Given the description of an element on the screen output the (x, y) to click on. 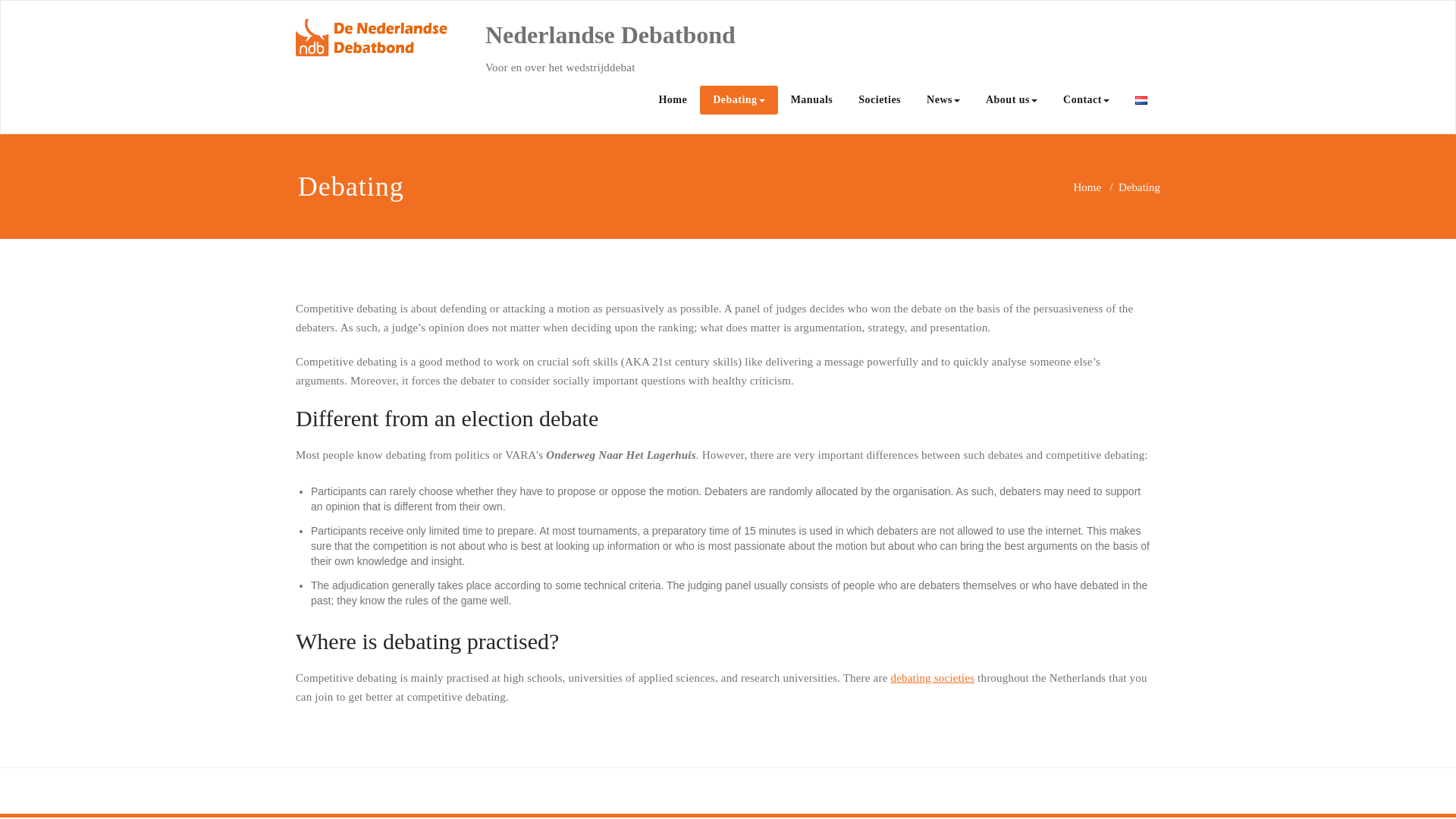
News (943, 99)
Nederlandse Debatbond (609, 34)
Contact (1085, 99)
Debating (738, 99)
Manuals (811, 99)
debating societies (931, 677)
Societies (879, 99)
Home (1086, 186)
Home (672, 99)
About us (1010, 99)
